Given the description of an element on the screen output the (x, y) to click on. 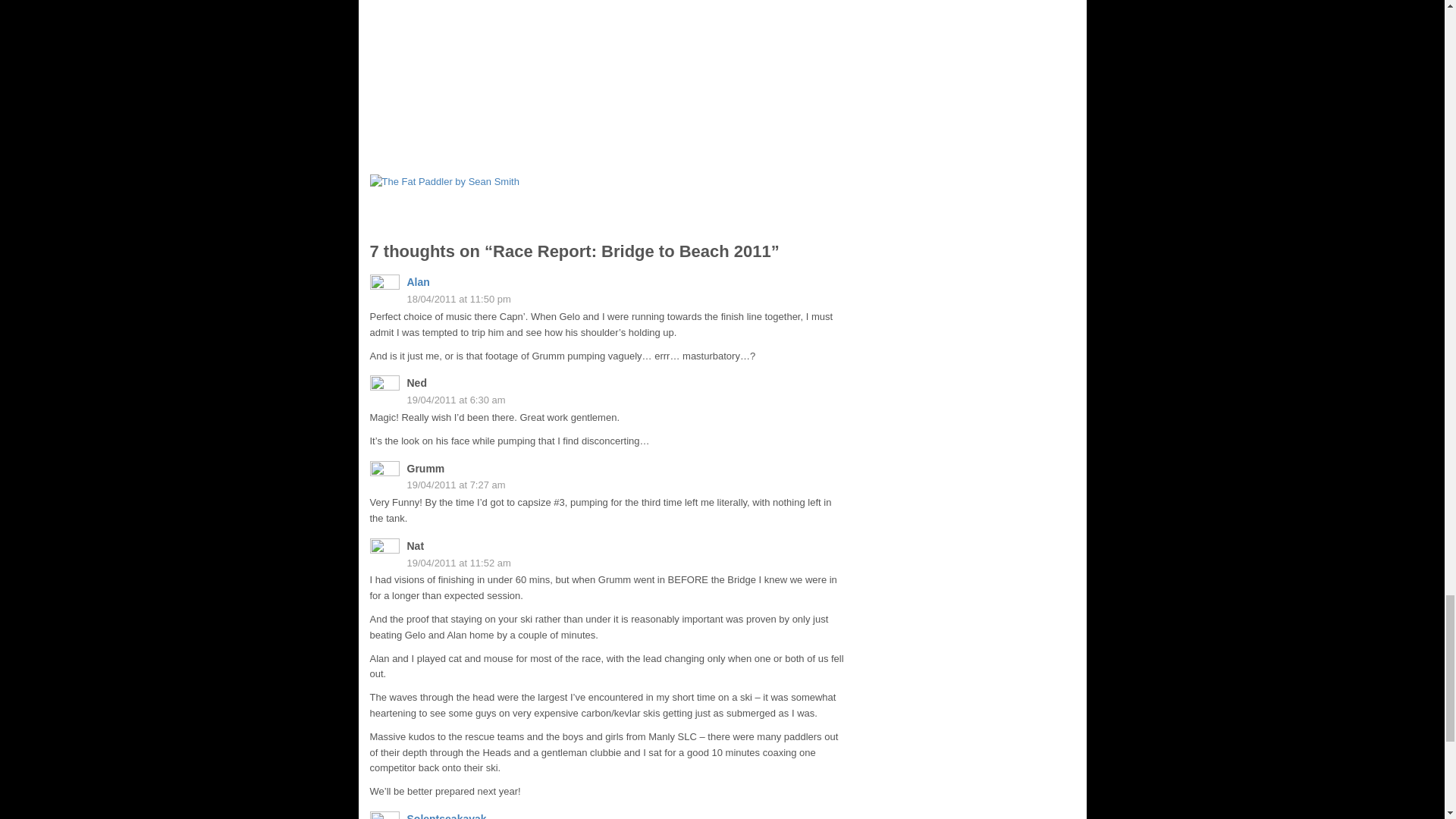
Alan (417, 282)
The Fat Paddler by Sean Smith (589, 201)
Solentseakayak (446, 816)
